Given the description of an element on the screen output the (x, y) to click on. 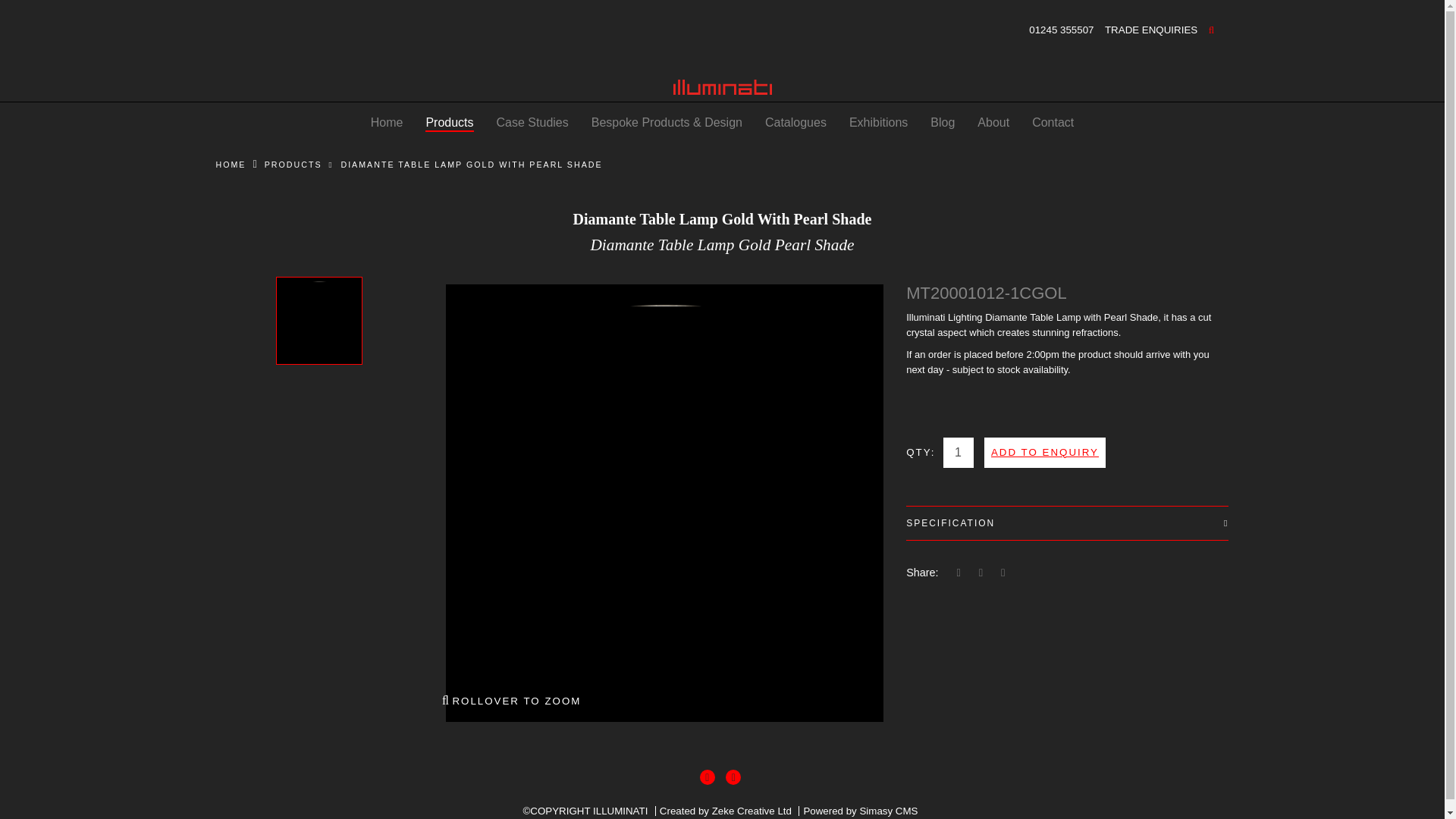
01245 355507 (1061, 30)
About (992, 122)
Add to Enquiry (1044, 451)
SPECIFICATION (1066, 522)
Blog (942, 122)
HOME (230, 163)
Simasy CMS (888, 810)
Blog (942, 122)
Home (387, 122)
Contact (1053, 122)
